Given the description of an element on the screen output the (x, y) to click on. 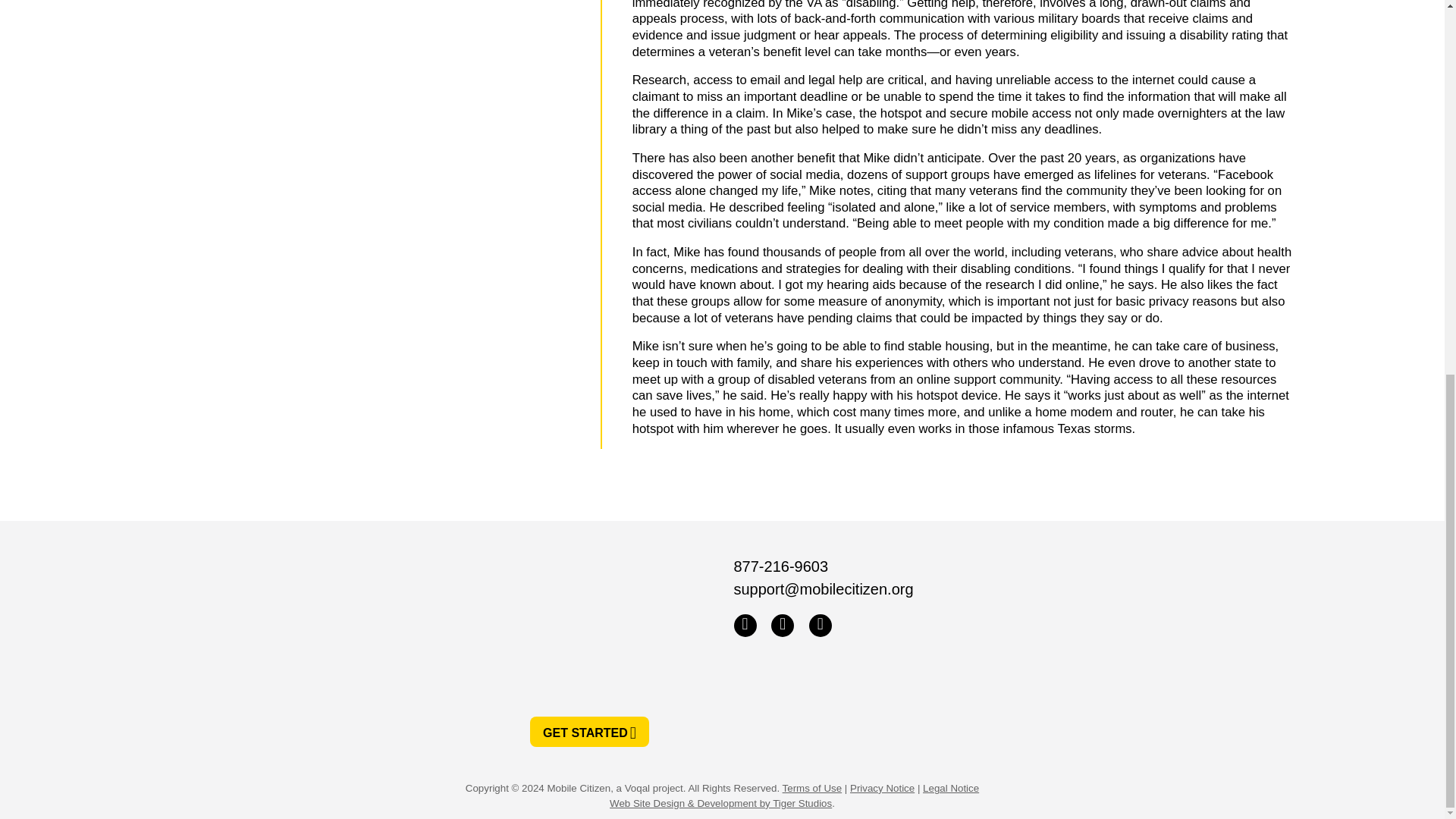
Terms of Use (813, 787)
GET STARTED (589, 731)
Privacy Notice (882, 787)
877-216-9603 (780, 565)
Legal Notice (950, 787)
